Given the description of an element on the screen output the (x, y) to click on. 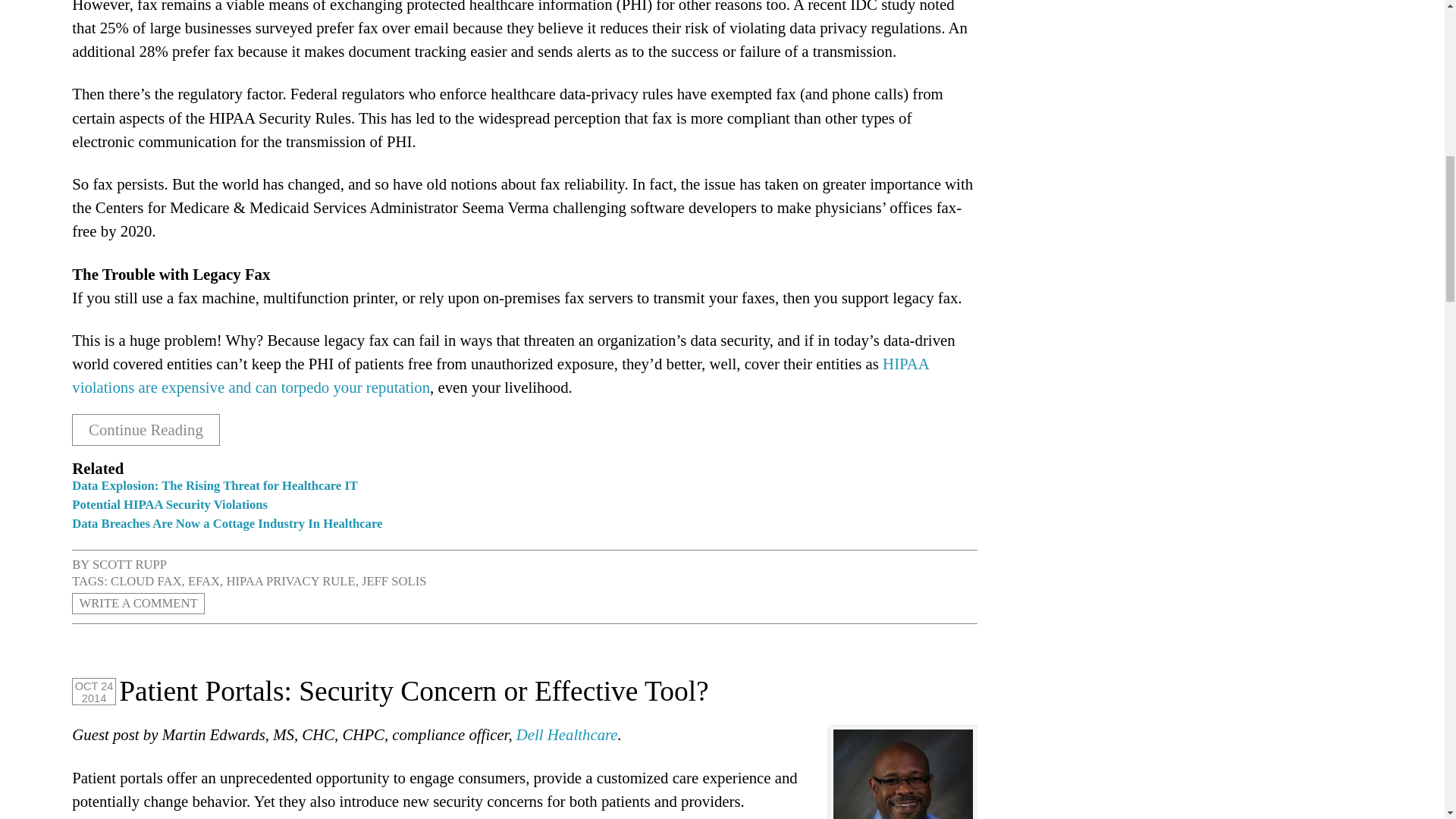
EFAX (203, 581)
Data Breaches Are Now a Cottage Industry In Healthcare (226, 523)
Potential HIPAA Security Violations (169, 504)
Potential HIPAA Security Violations (169, 504)
Continue Reading (145, 429)
Data Explosion: The Rising Threat for Healthcare IT (214, 485)
Data Explosion: The Rising Threat for Healthcare IT (214, 485)
Patient Portals: Security Concern or Effective Tool? (414, 690)
SCOTT RUPP (130, 564)
HIPAA PRIVACY RULE (290, 581)
WRITE A COMMENT (138, 603)
Dell Healthcare (566, 733)
JEFF SOLIS (393, 581)
October 24, 2014 12:17 am (93, 691)
Data Breaches Are Now a Cottage Industry In Healthcare (226, 523)
